Given the description of an element on the screen output the (x, y) to click on. 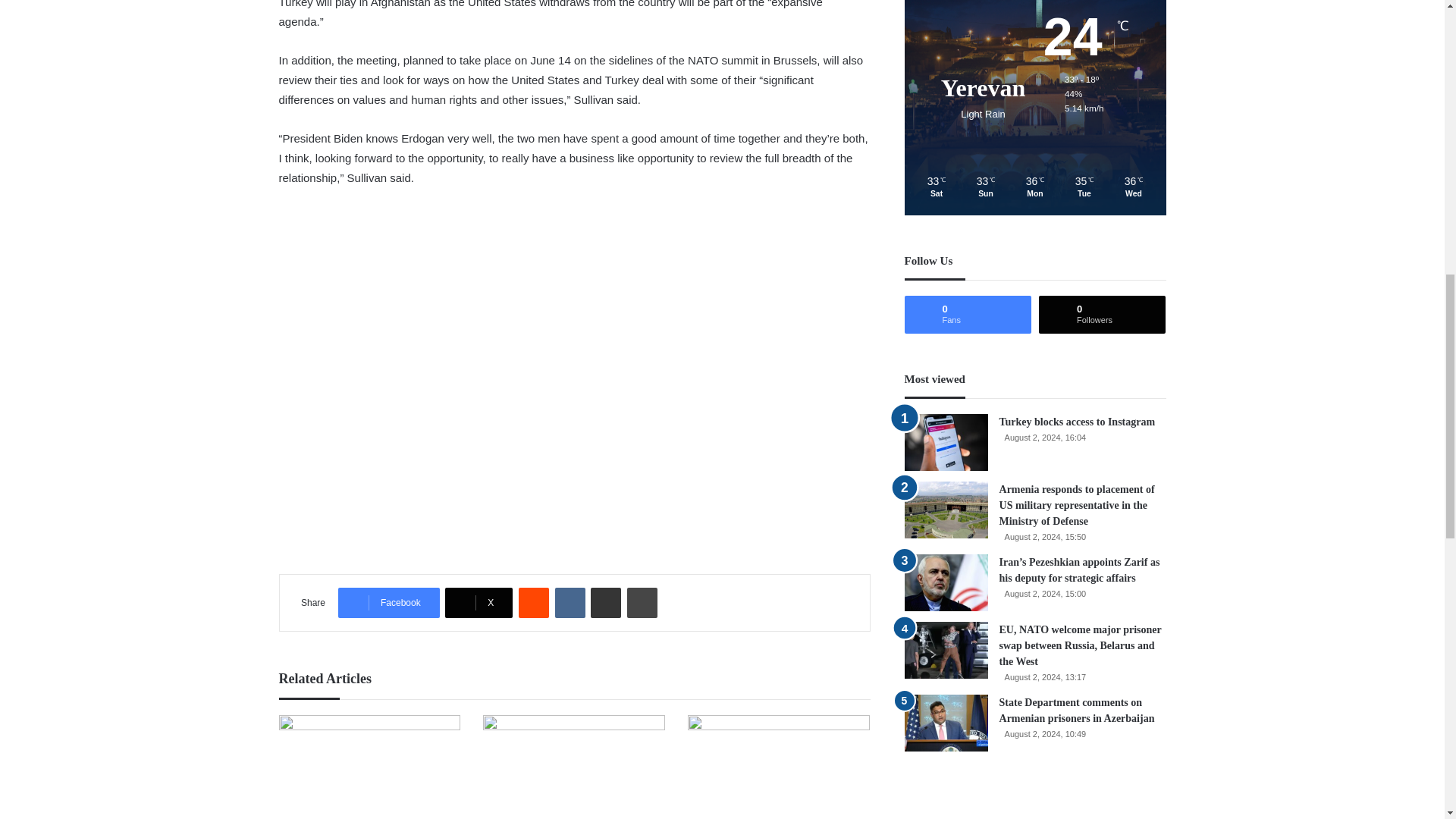
X (478, 603)
VKontakte (569, 603)
Print (642, 603)
Reddit (533, 603)
Share via Email (606, 603)
Facebook (388, 603)
